Given the description of an element on the screen output the (x, y) to click on. 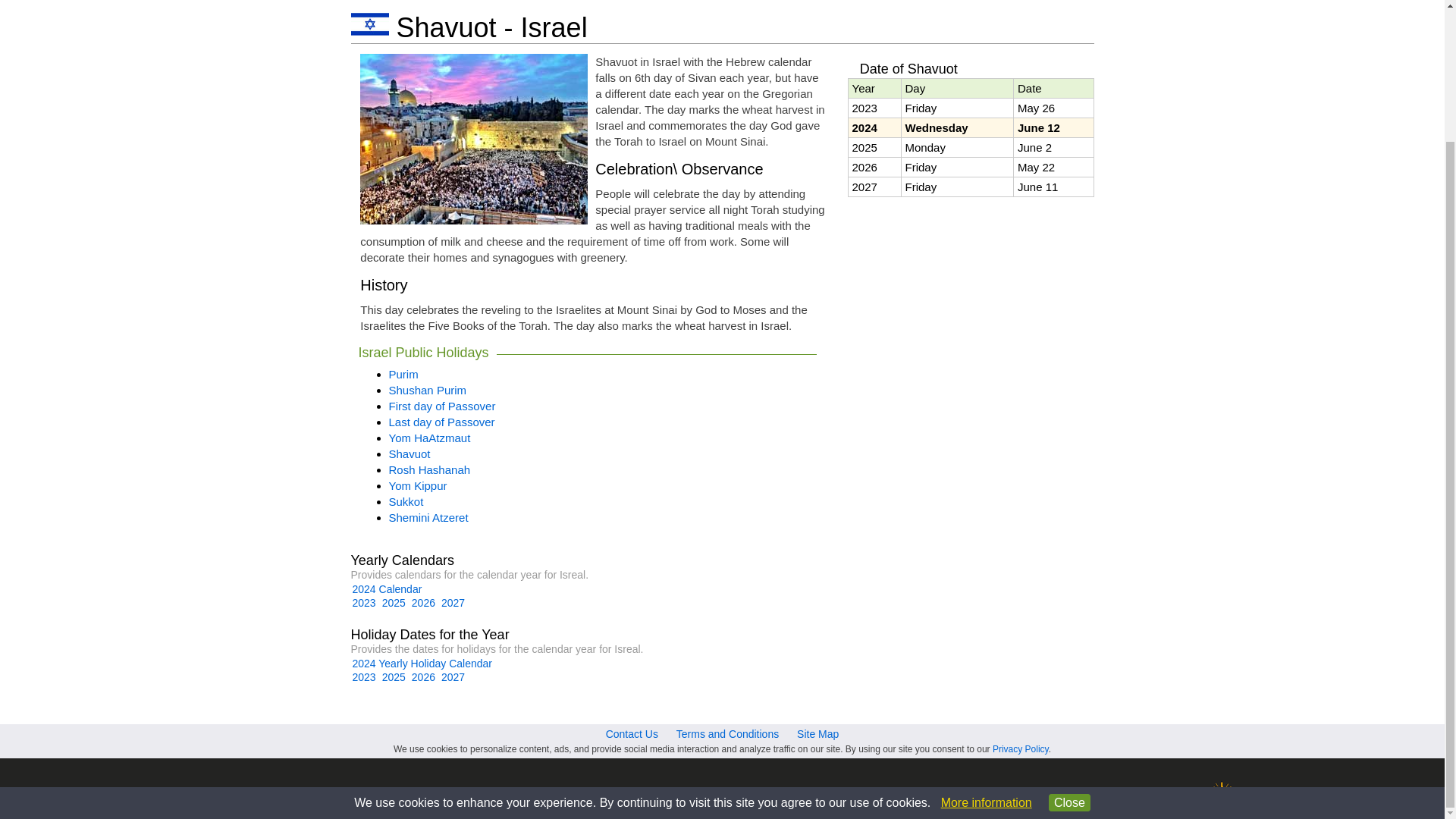
Yom HaAtzmaut (429, 437)
2027 (452, 603)
Shavuot (408, 453)
First day of Passover (441, 405)
Last day of Passover (441, 421)
Purim (402, 373)
Shemini Atzeret (427, 517)
2023 (363, 603)
2026 (423, 603)
2023 (363, 676)
2024 Calendar (387, 589)
2024 Yearly Holiday Calendar (422, 663)
Sukkot (405, 501)
2025 (393, 603)
Rosh Hashanah (429, 469)
